Given the description of an element on the screen output the (x, y) to click on. 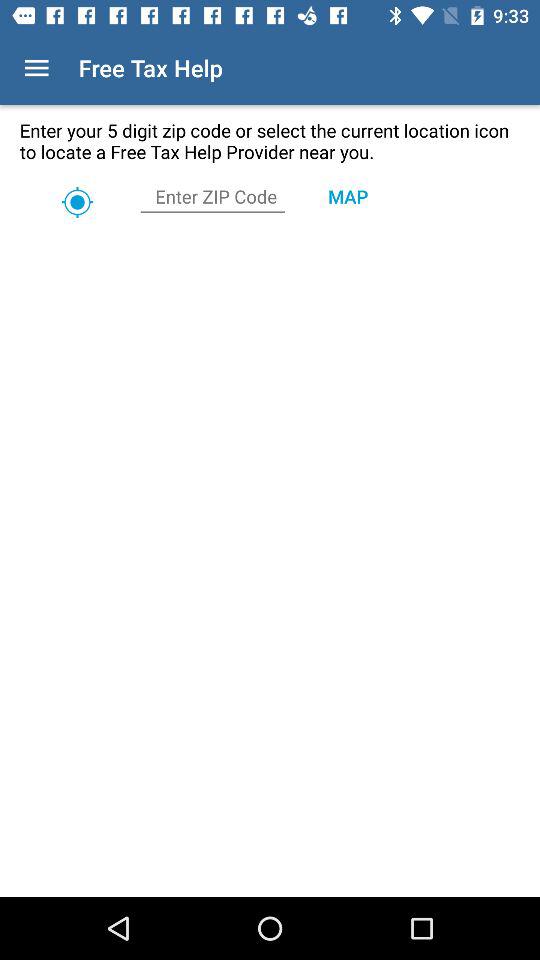
jump to the map (347, 196)
